Given the description of an element on the screen output the (x, y) to click on. 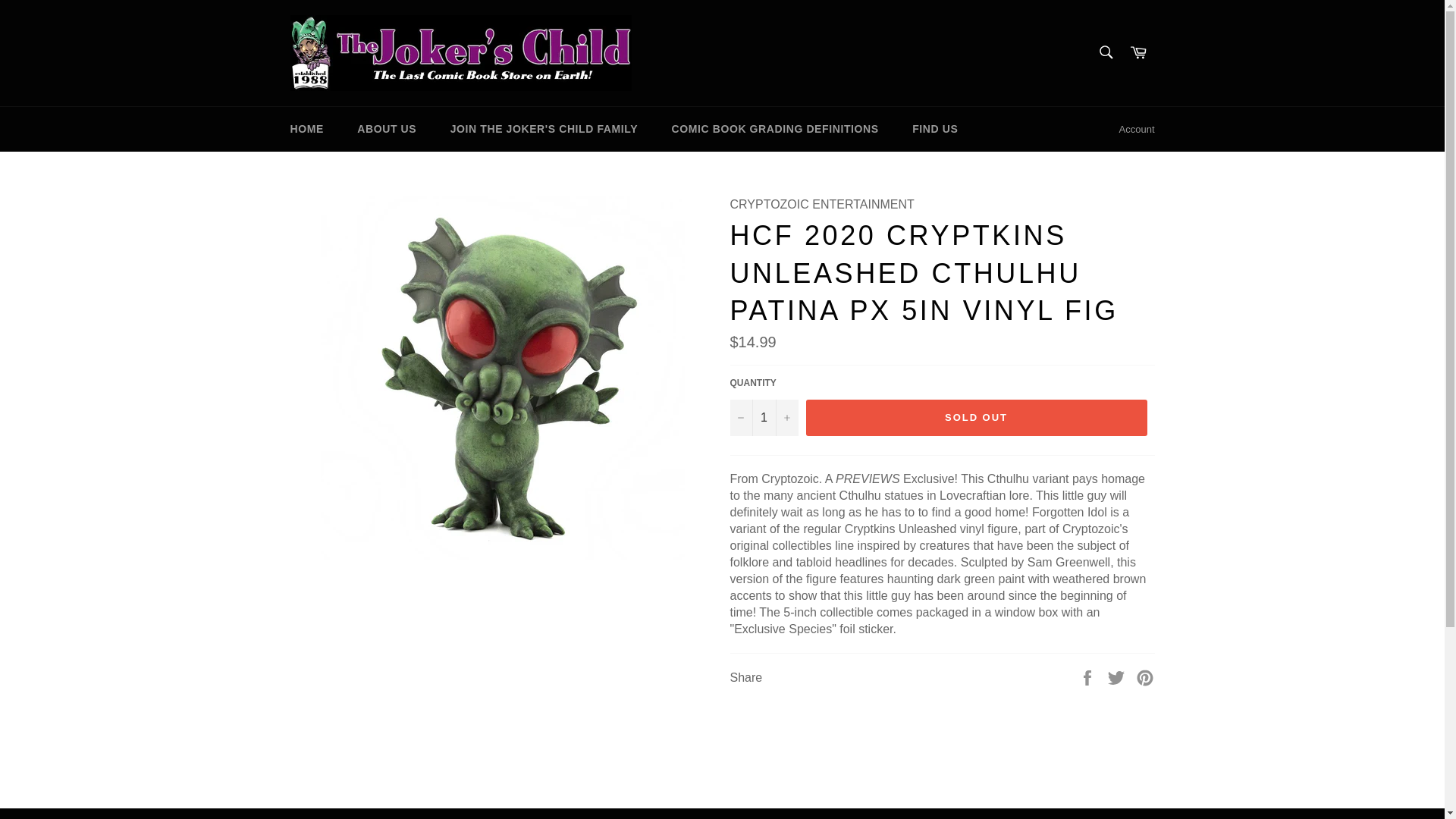
COMIC BOOK GRADING DEFINITIONS (774, 129)
Pin on Pinterest (1144, 676)
FIND US (934, 129)
1 (763, 417)
Tweet on Twitter (1117, 676)
Search (1104, 51)
Cart (1138, 53)
JOIN THE JOKER'S CHILD FAMILY (543, 129)
Tweet on Twitter (1117, 676)
ABOUT US (386, 129)
Share on Facebook (1088, 676)
SOLD OUT (976, 417)
Pin on Pinterest (1144, 676)
Share on Facebook (1088, 676)
HOME (306, 129)
